Given the description of an element on the screen output the (x, y) to click on. 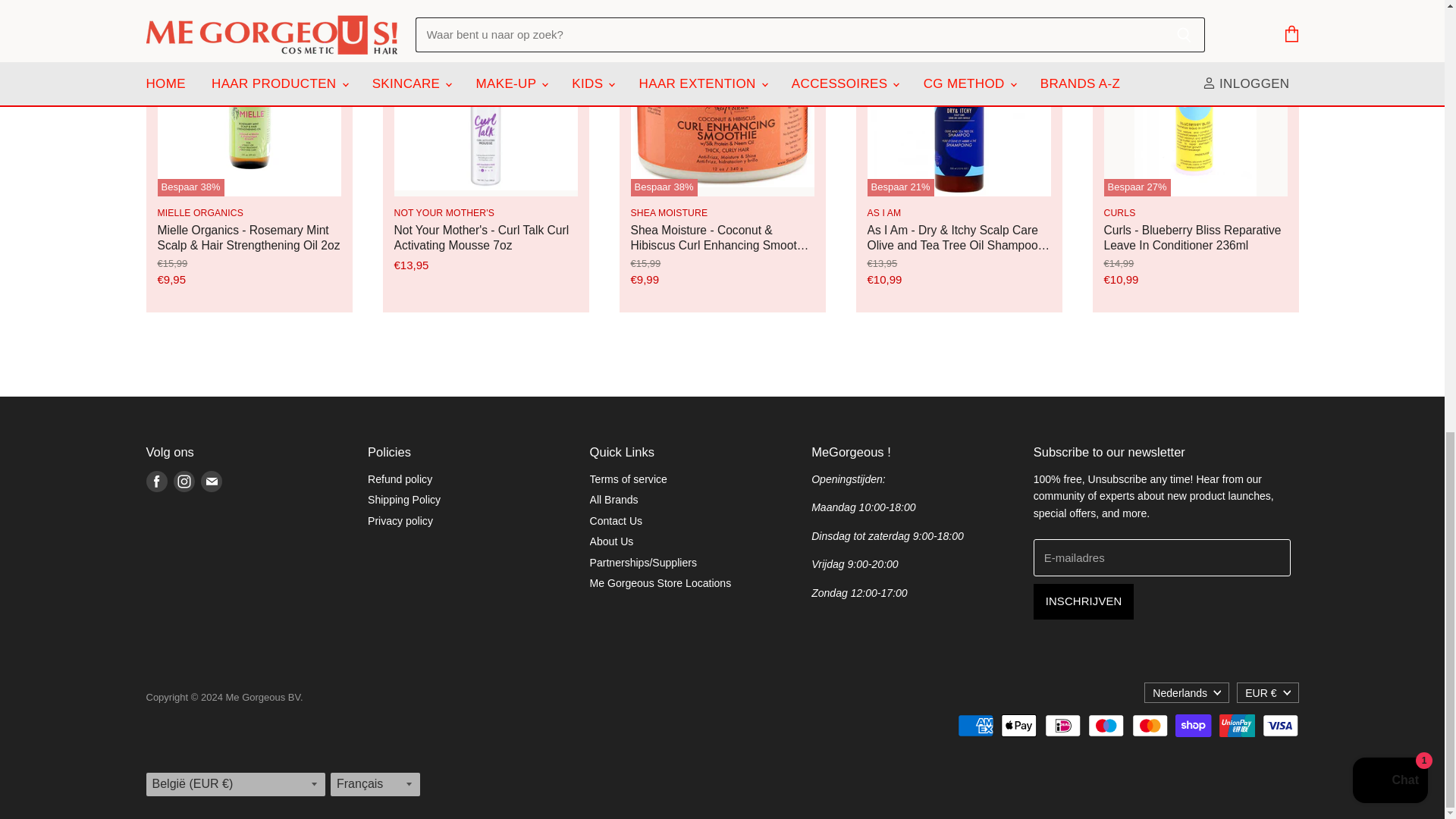
Instagram (183, 481)
Facebook (156, 481)
E-mail (210, 481)
